Given the description of an element on the screen output the (x, y) to click on. 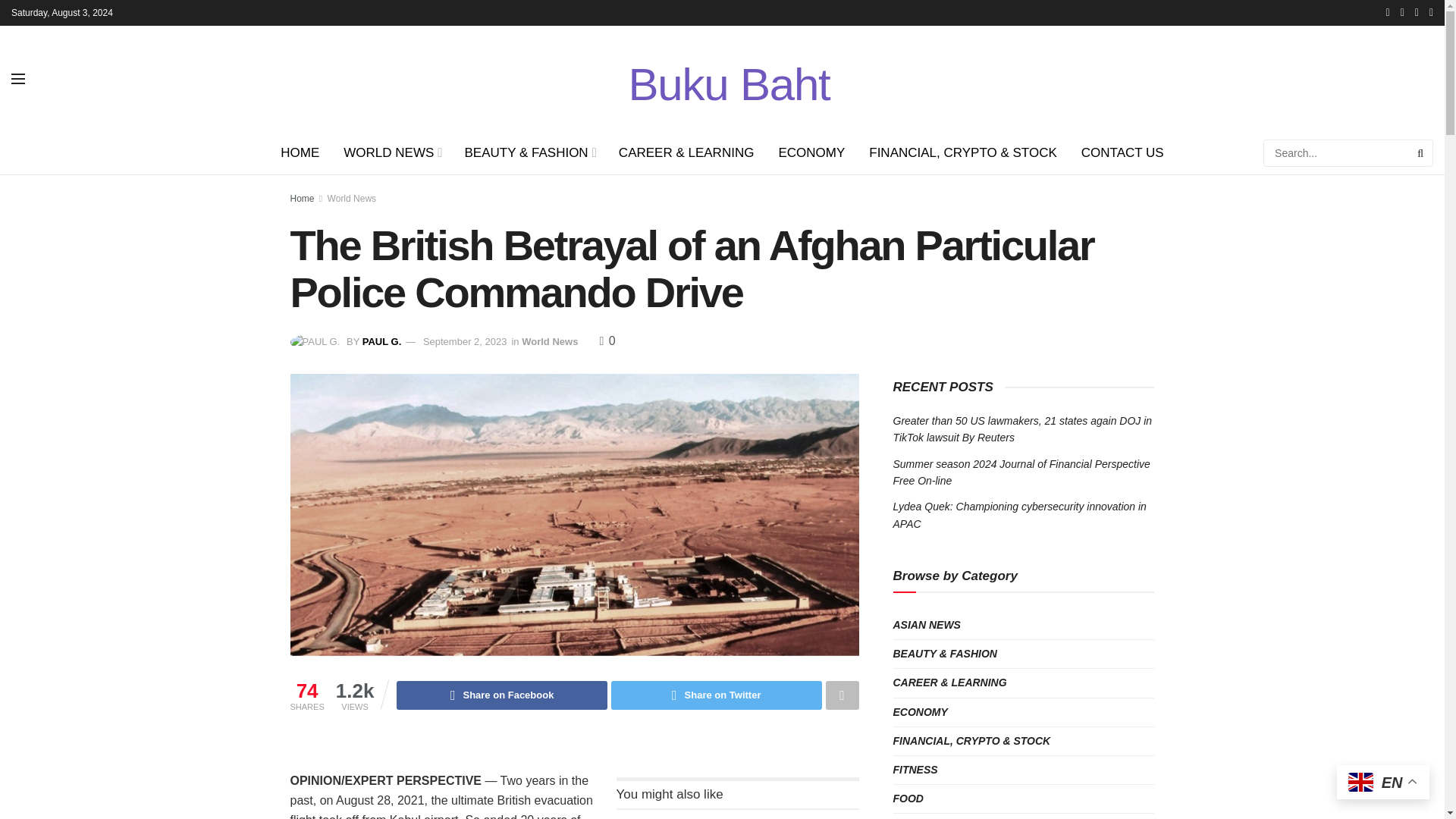
PAUL G. (381, 341)
WORLD NEWS (391, 152)
Buku Baht (728, 78)
World News (351, 198)
CONTACT US (1122, 152)
HOME (299, 152)
Home (301, 198)
ECONOMY (811, 152)
